Given the description of an element on the screen output the (x, y) to click on. 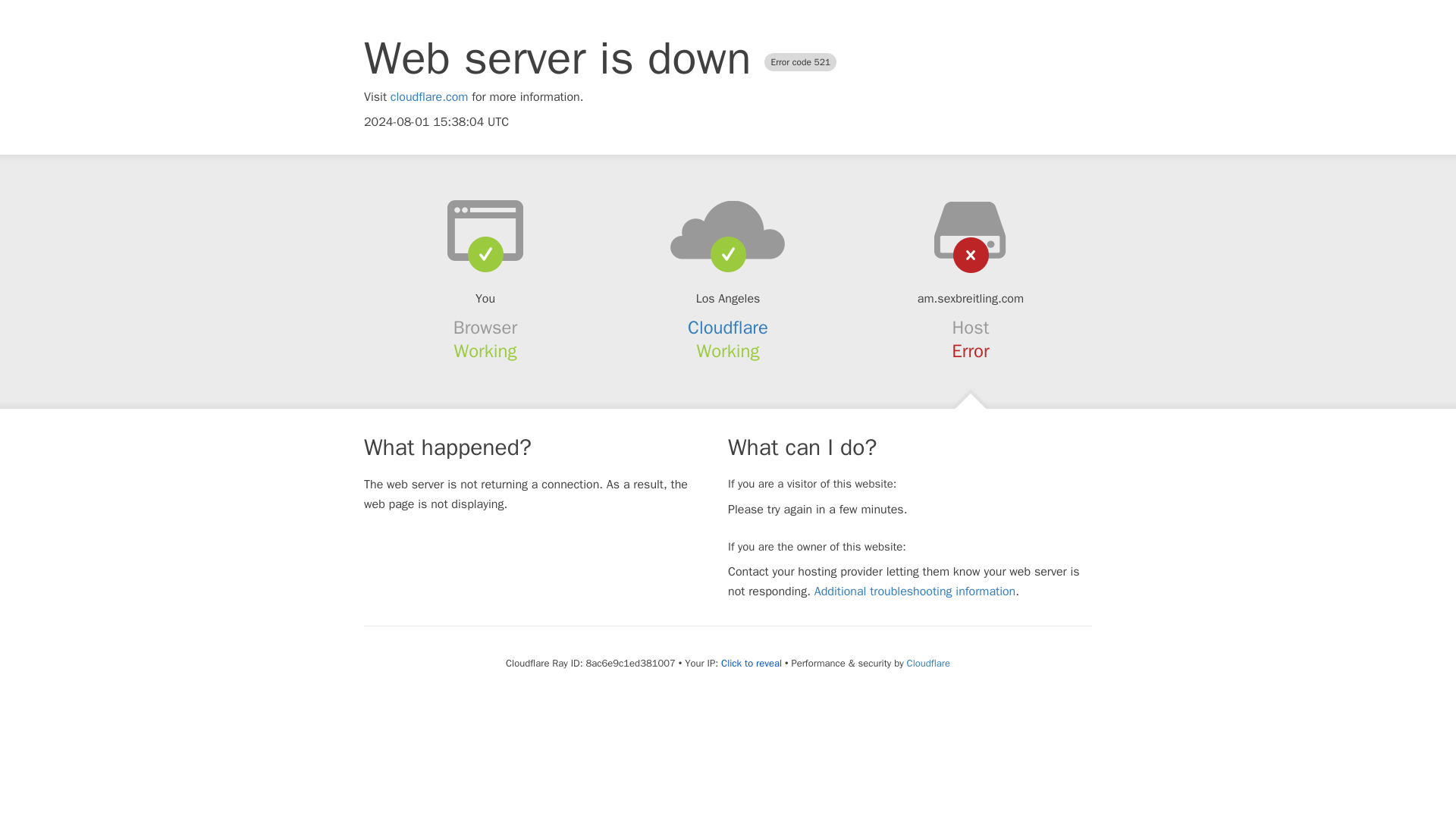
Click to reveal (750, 663)
Cloudflare (928, 662)
Additional troubleshooting information (913, 590)
cloudflare.com (429, 96)
Cloudflare (727, 327)
